Given the description of an element on the screen output the (x, y) to click on. 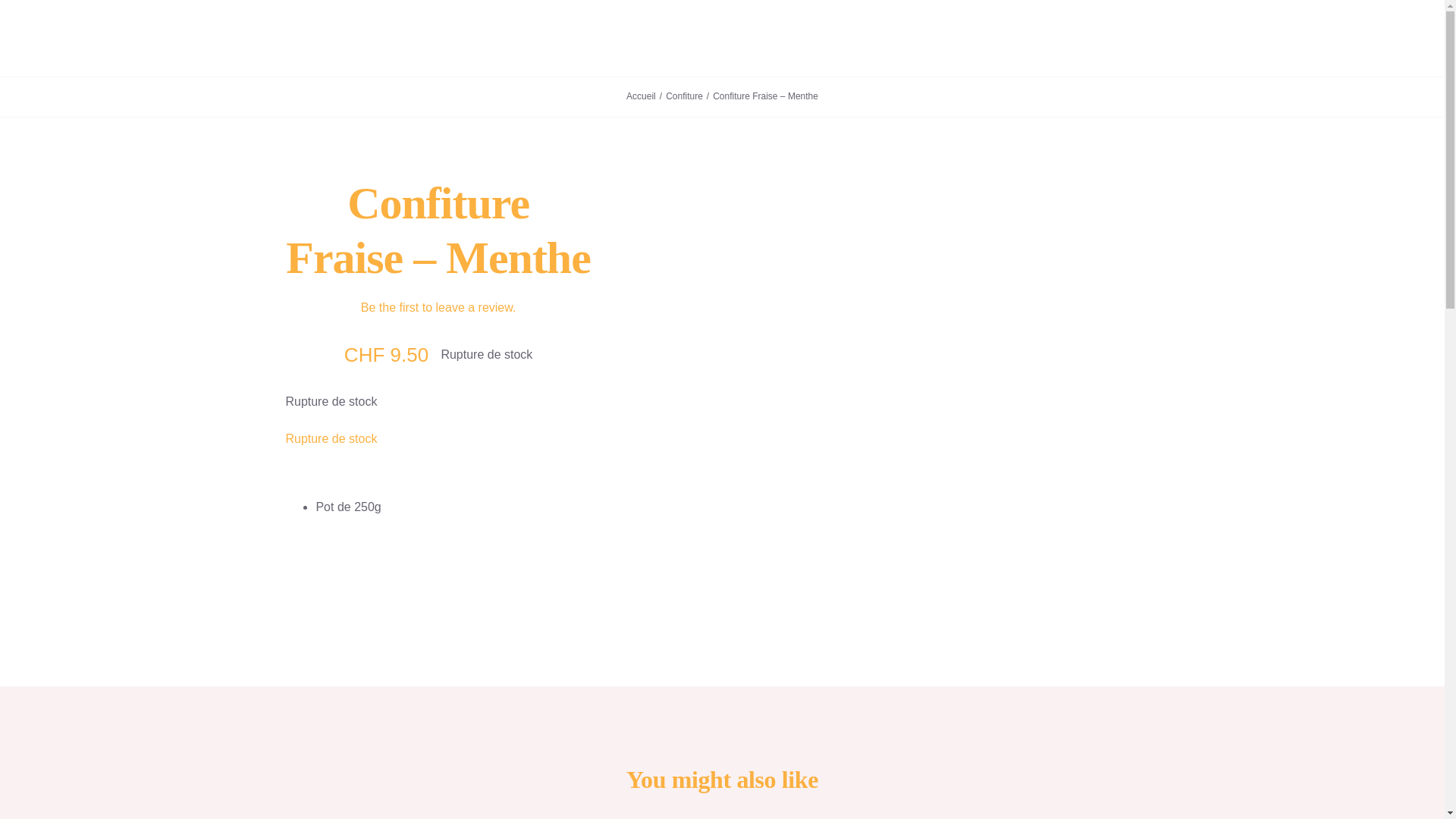
Accueil Element type: text (640, 96)
GALERIE Element type: text (533, 38)
CONTACT / INFORMATIONS Element type: text (643, 38)
BOUTIQUE EN LIGNE Element type: text (783, 38)
HOME Element type: text (477, 38)
Se connecter Element type: text (941, 213)
MON COMPTE Element type: text (890, 38)
Confiture Element type: text (683, 96)
Be the first to leave a review. Element type: text (438, 308)
